Given the description of an element on the screen output the (x, y) to click on. 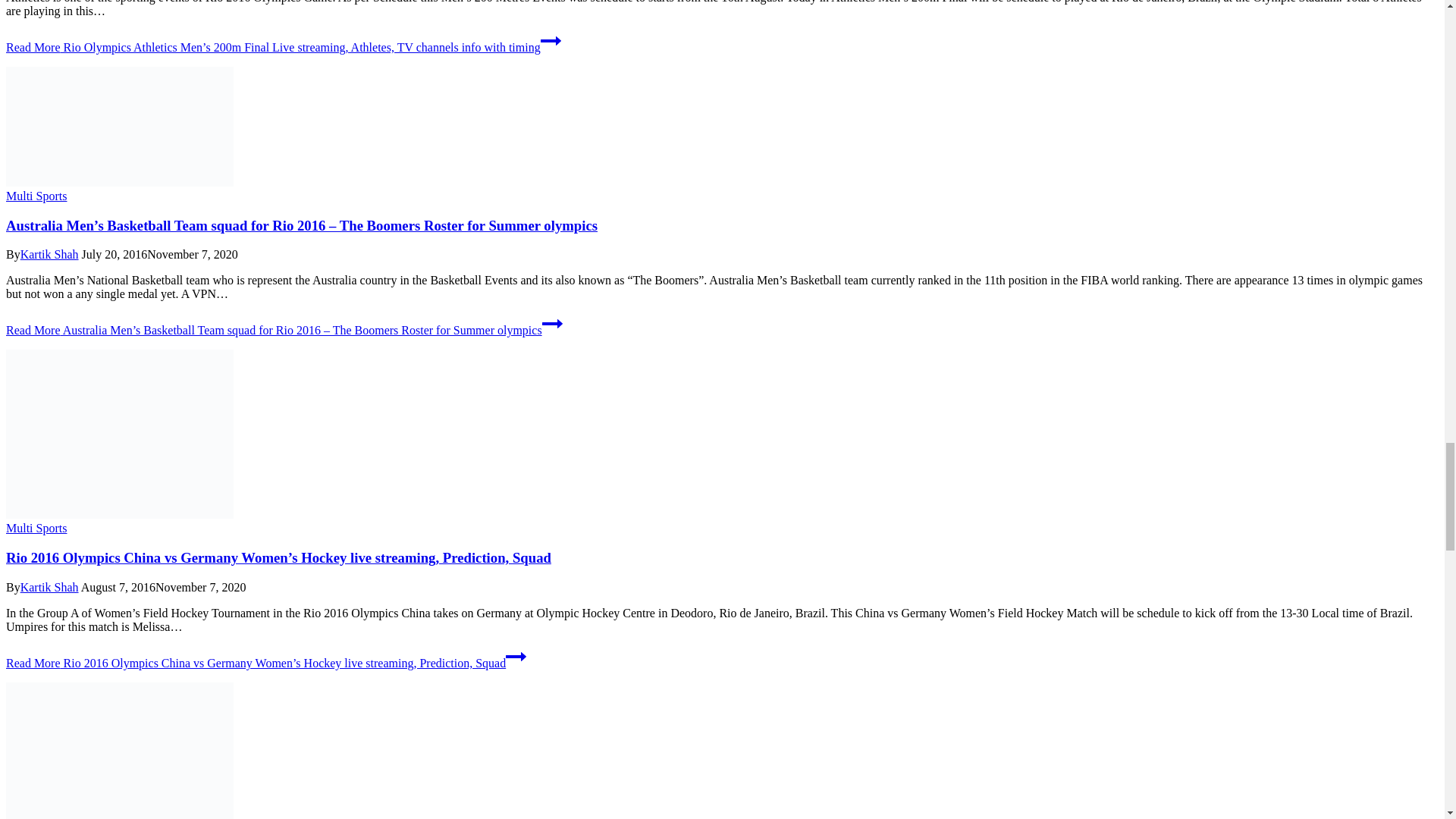
Continue (515, 656)
china Womens field hockey team ready for the olympics 2016 (118, 433)
water polo in olympics (118, 750)
Continue (550, 40)
Continue (551, 323)
